Given the description of an element on the screen output the (x, y) to click on. 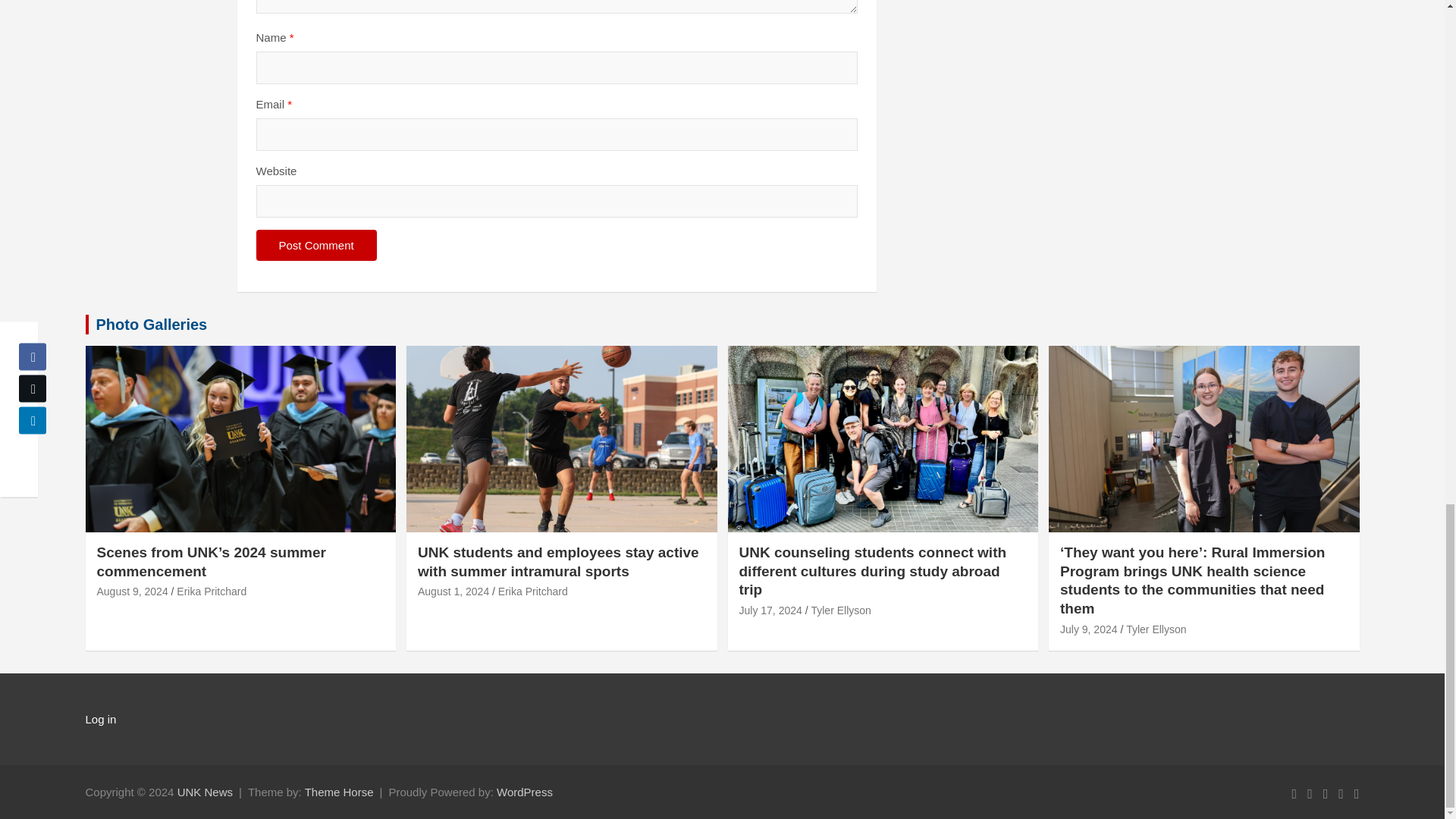
Theme Horse (339, 791)
Post Comment (316, 245)
UNK News (204, 791)
Post Comment (316, 245)
WordPress (524, 791)
